Given the description of an element on the screen output the (x, y) to click on. 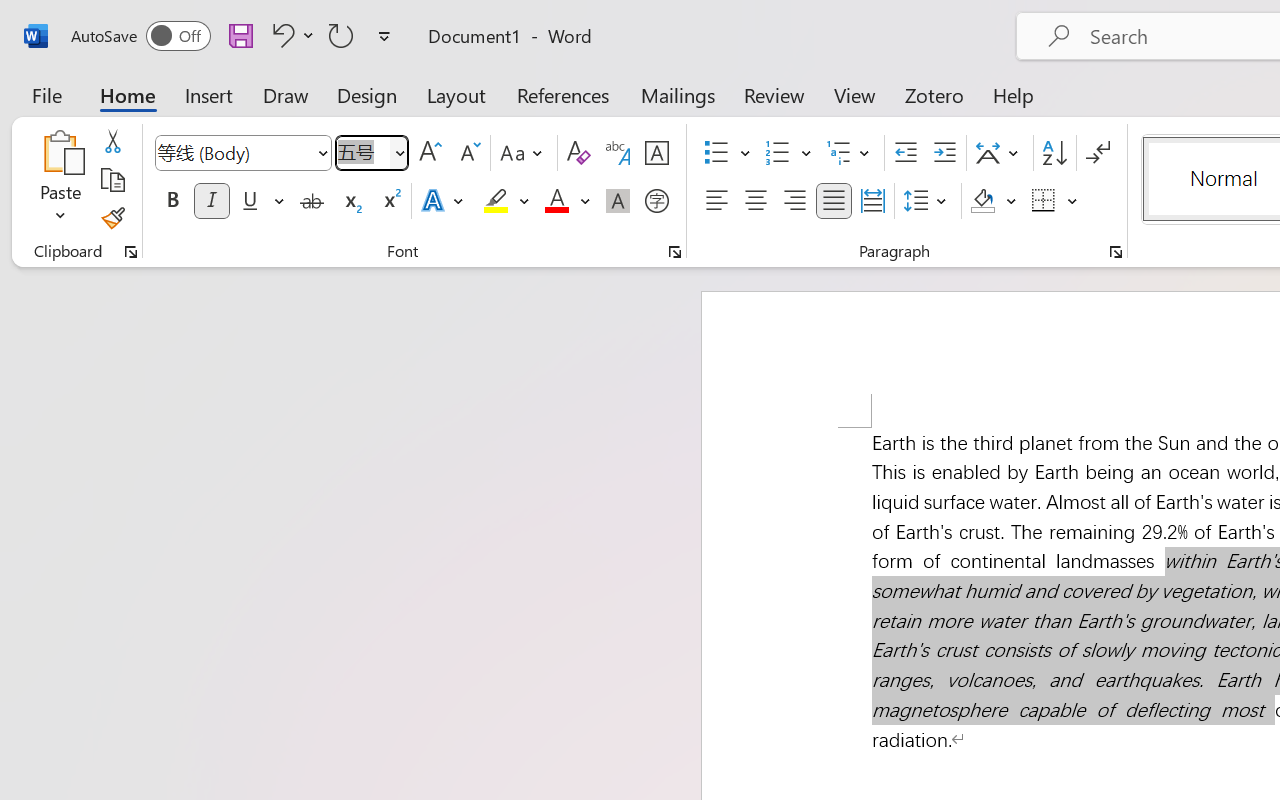
Shrink Font (468, 153)
Phonetic Guide... (618, 153)
Repeat Italic (341, 35)
Center (756, 201)
Character Border (656, 153)
Show/Hide Editing Marks (1098, 153)
Decrease Indent (906, 153)
